Given the description of an element on the screen output the (x, y) to click on. 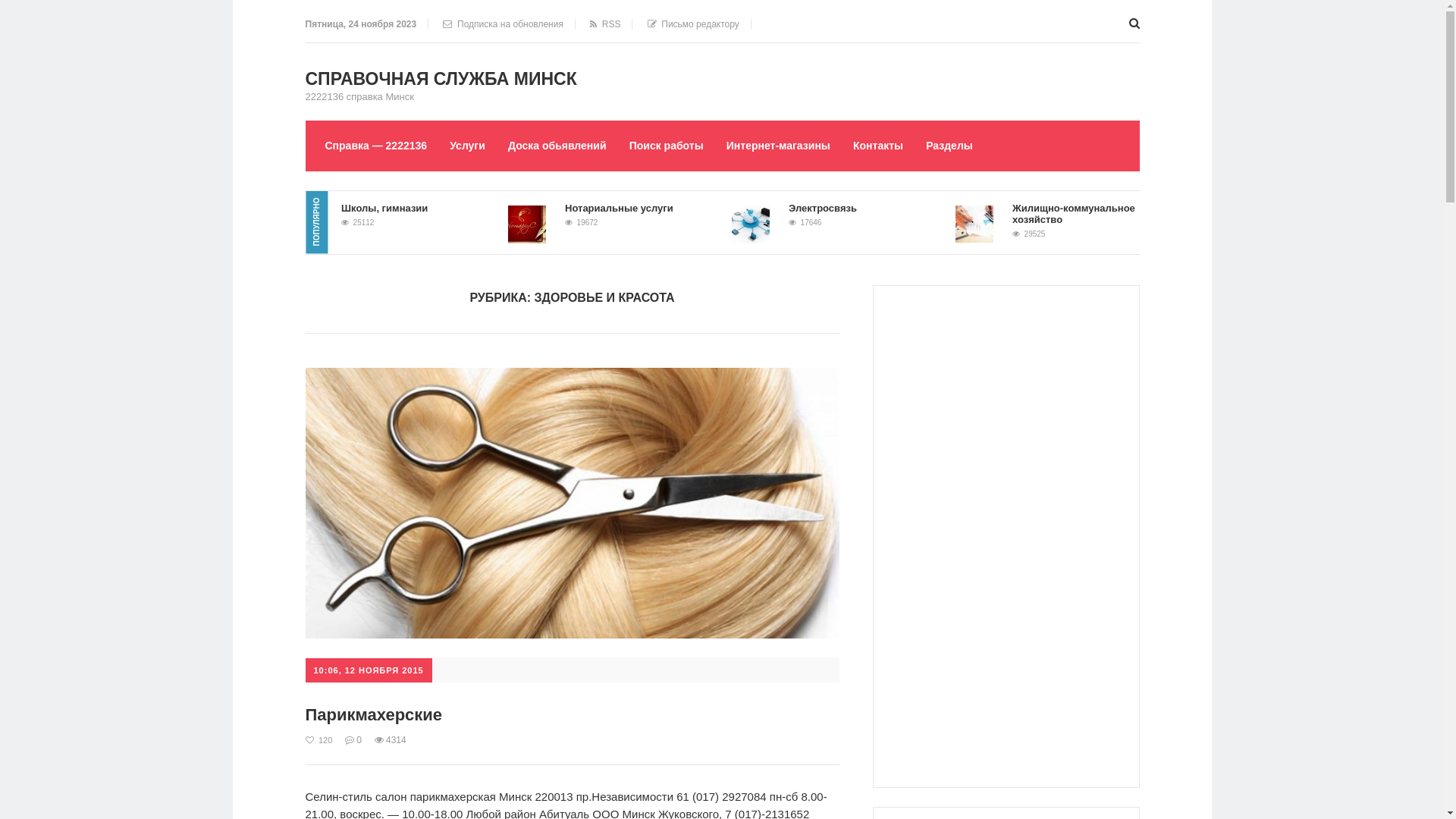
 RSS Element type: text (604, 23)
120 Element type: text (318, 739)
